Given the description of an element on the screen output the (x, y) to click on. 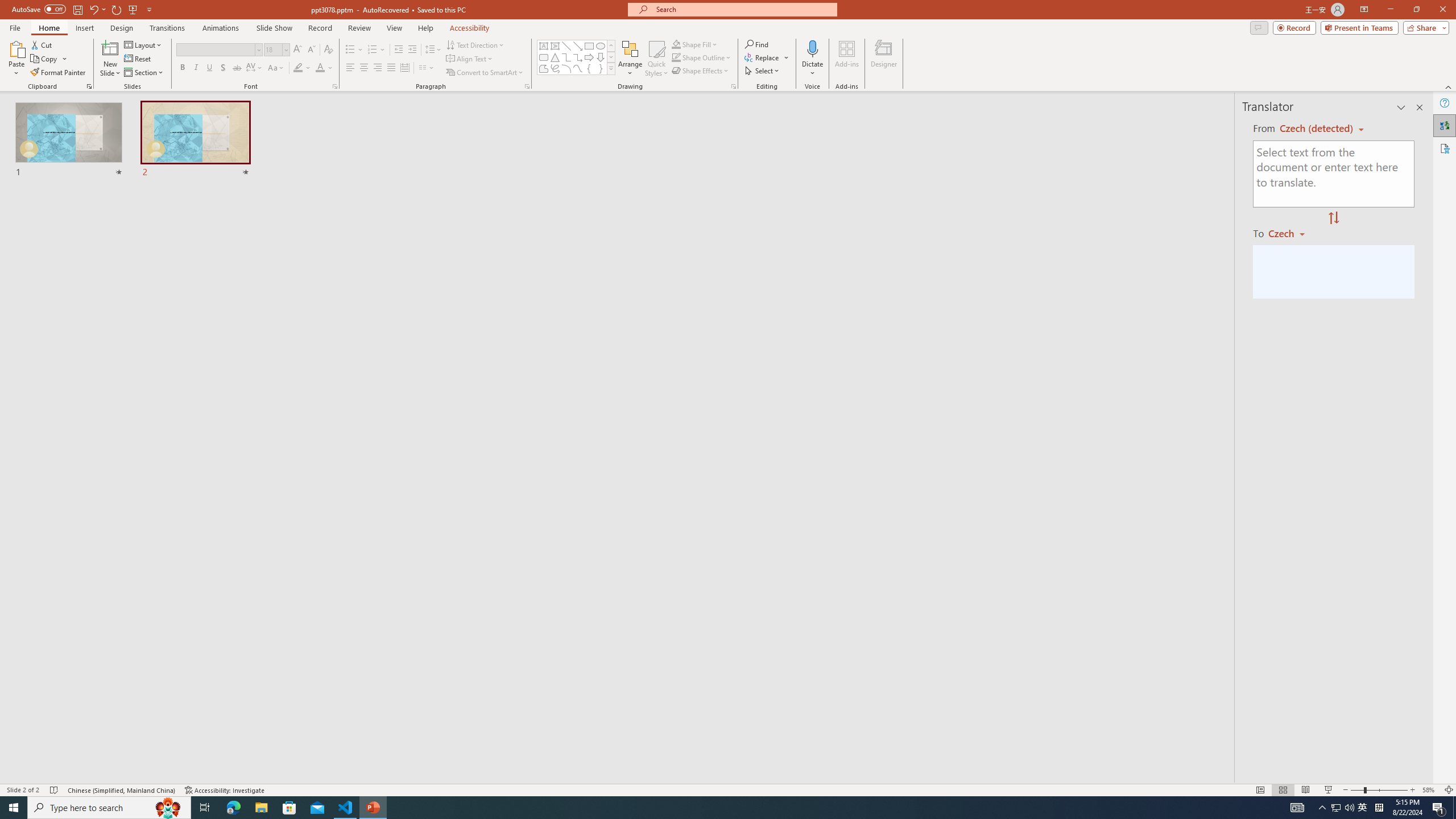
Designer (883, 58)
Find... (756, 44)
Bullets (349, 49)
AutomationID: ShapesInsertGallery (576, 57)
Text Box (543, 45)
Task Pane Options (1400, 107)
Reading View (1305, 790)
Open (285, 49)
Font (219, 49)
Columns (426, 67)
Text Highlight Color (302, 67)
Accessibility (1444, 147)
Class: NetUIImage (610, 68)
